Given the description of an element on the screen output the (x, y) to click on. 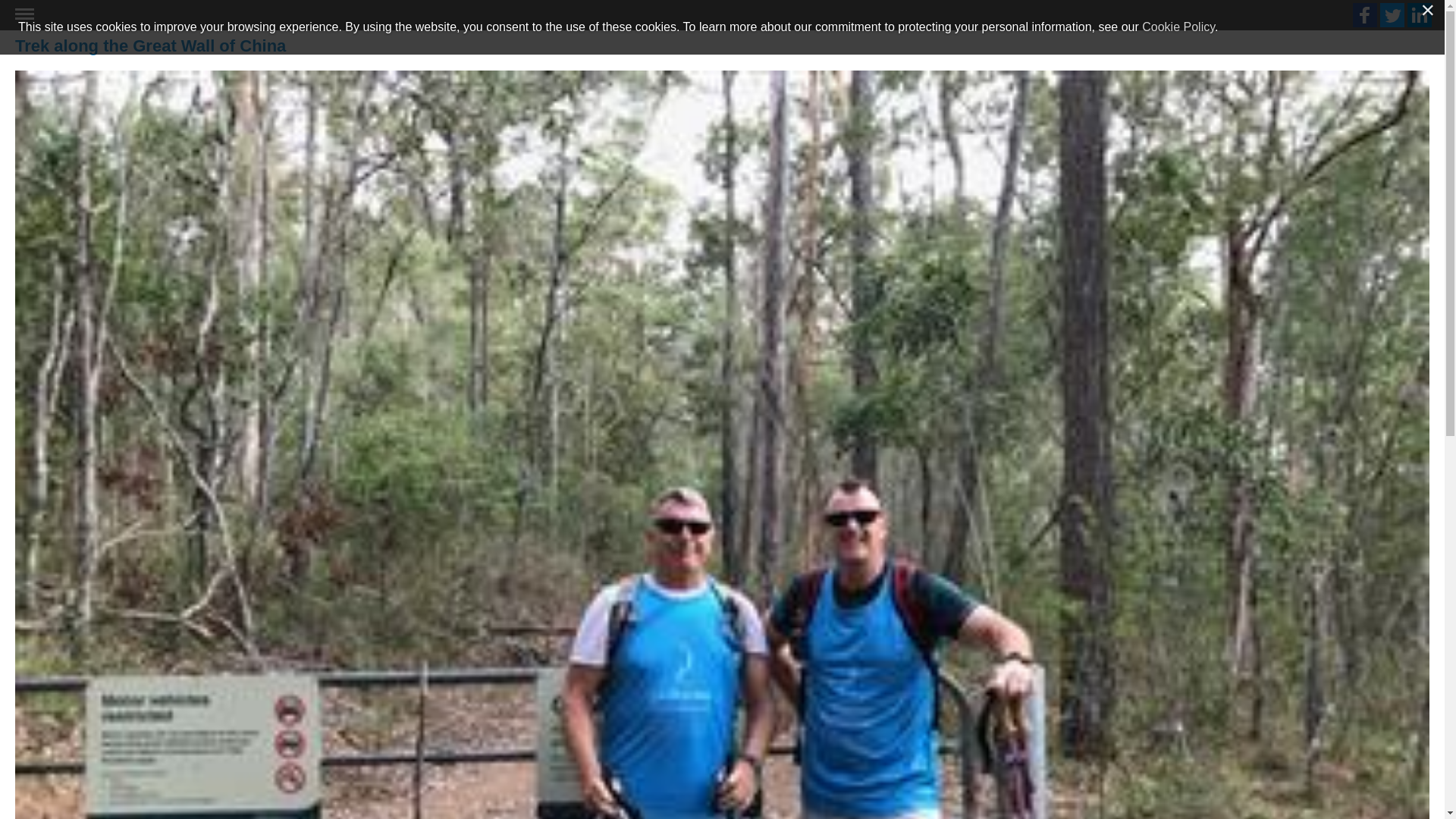
Cookie Policy Element type: text (1178, 26)
Facebook Element type: hover (1364, 15)
LinkedIn Element type: hover (1419, 15)
Twitter Element type: hover (1391, 15)
